Given the description of an element on the screen output the (x, y) to click on. 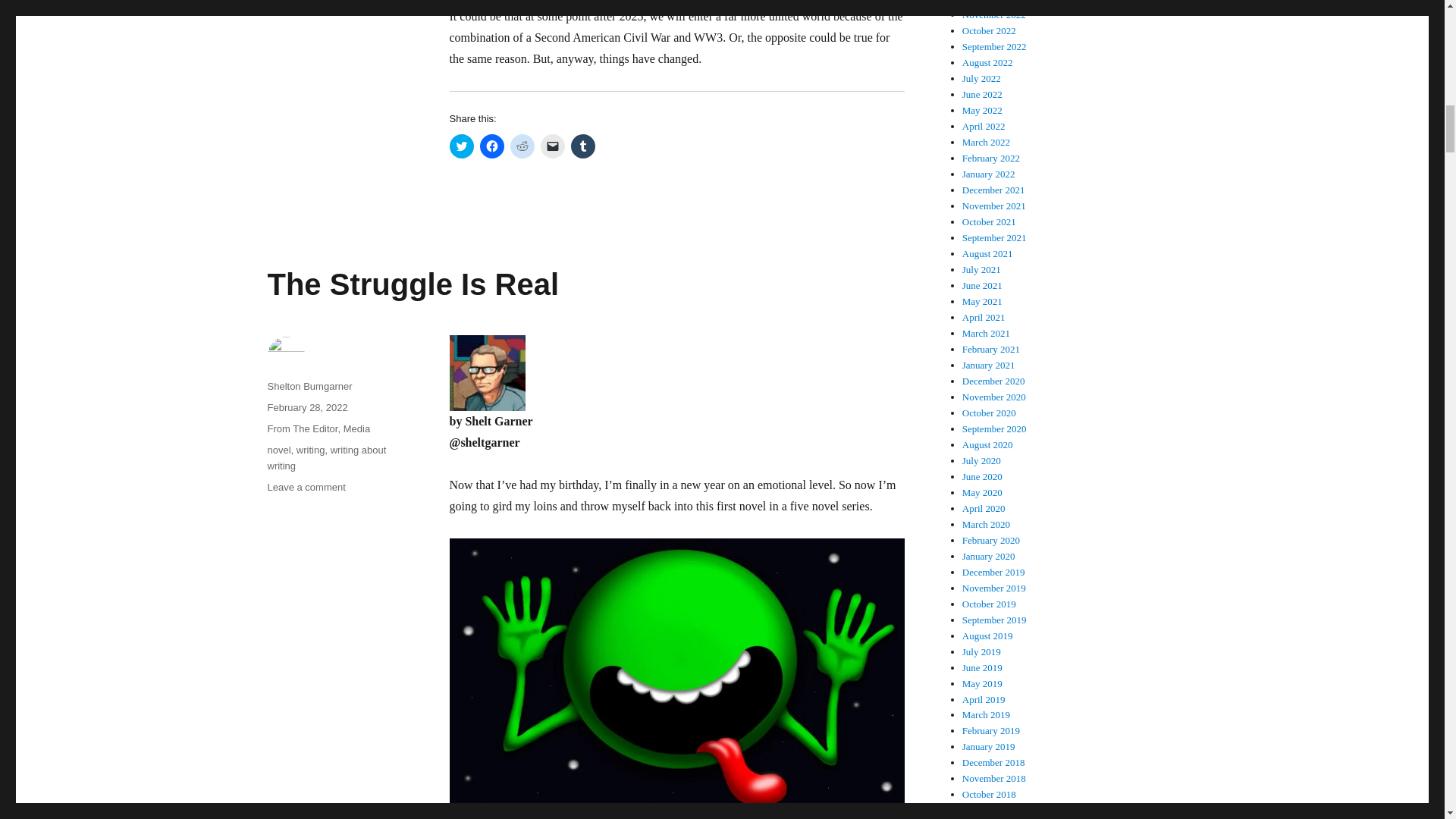
novel (277, 449)
writing about writing (325, 457)
The Struggle Is Real (412, 284)
From The Editor (301, 428)
Click to email a link to a friend (552, 146)
February 28, 2022 (306, 407)
Click to share on Facebook (491, 146)
Media (356, 428)
writing (310, 449)
Click to share on Twitter (305, 487)
Click to share on Tumblr (460, 146)
Click to share on Reddit (582, 146)
Shelton Bumgarner (521, 146)
